Given the description of an element on the screen output the (x, y) to click on. 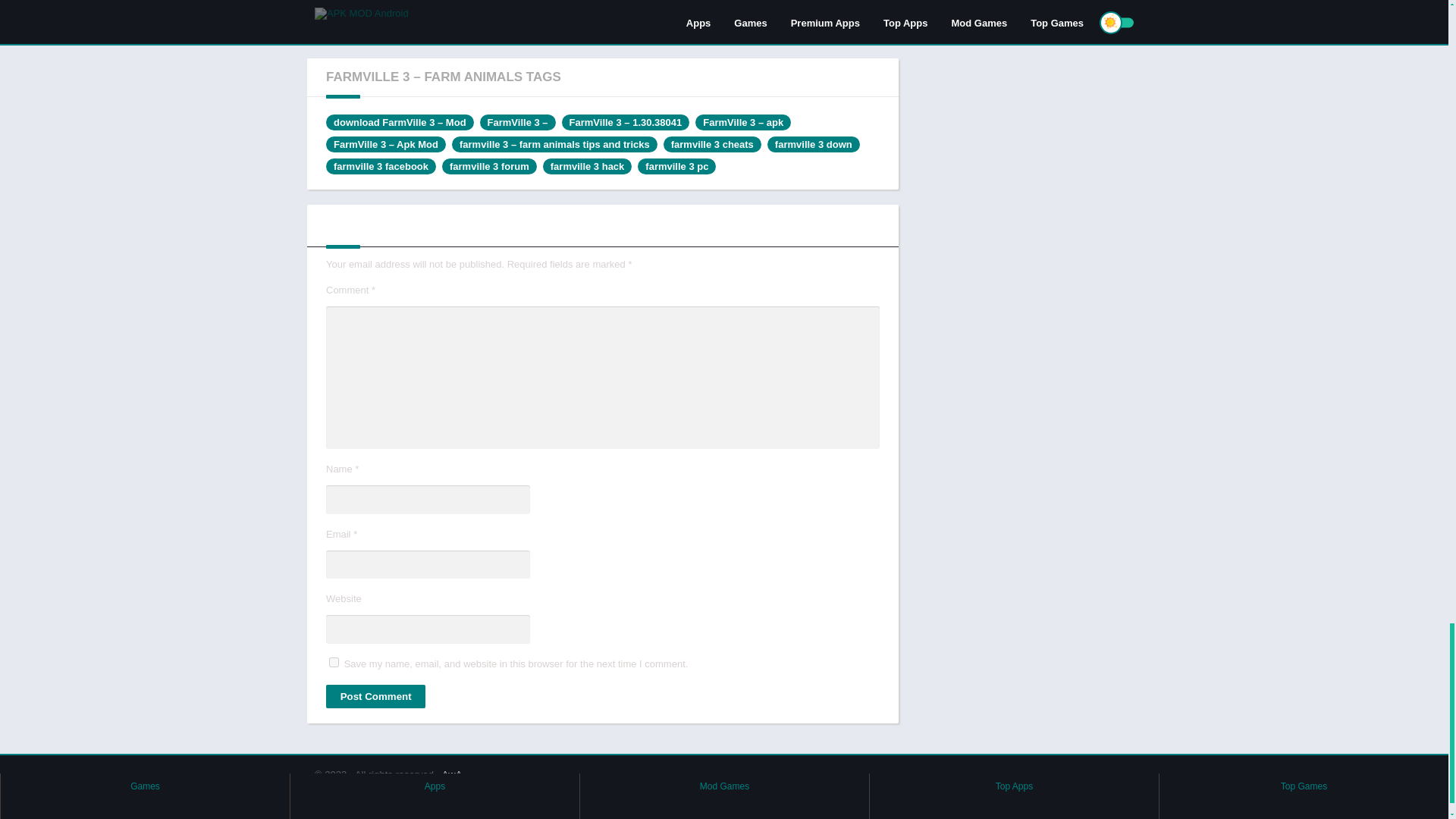
yes (334, 662)
Post Comment (375, 696)
